Given the description of an element on the screen output the (x, y) to click on. 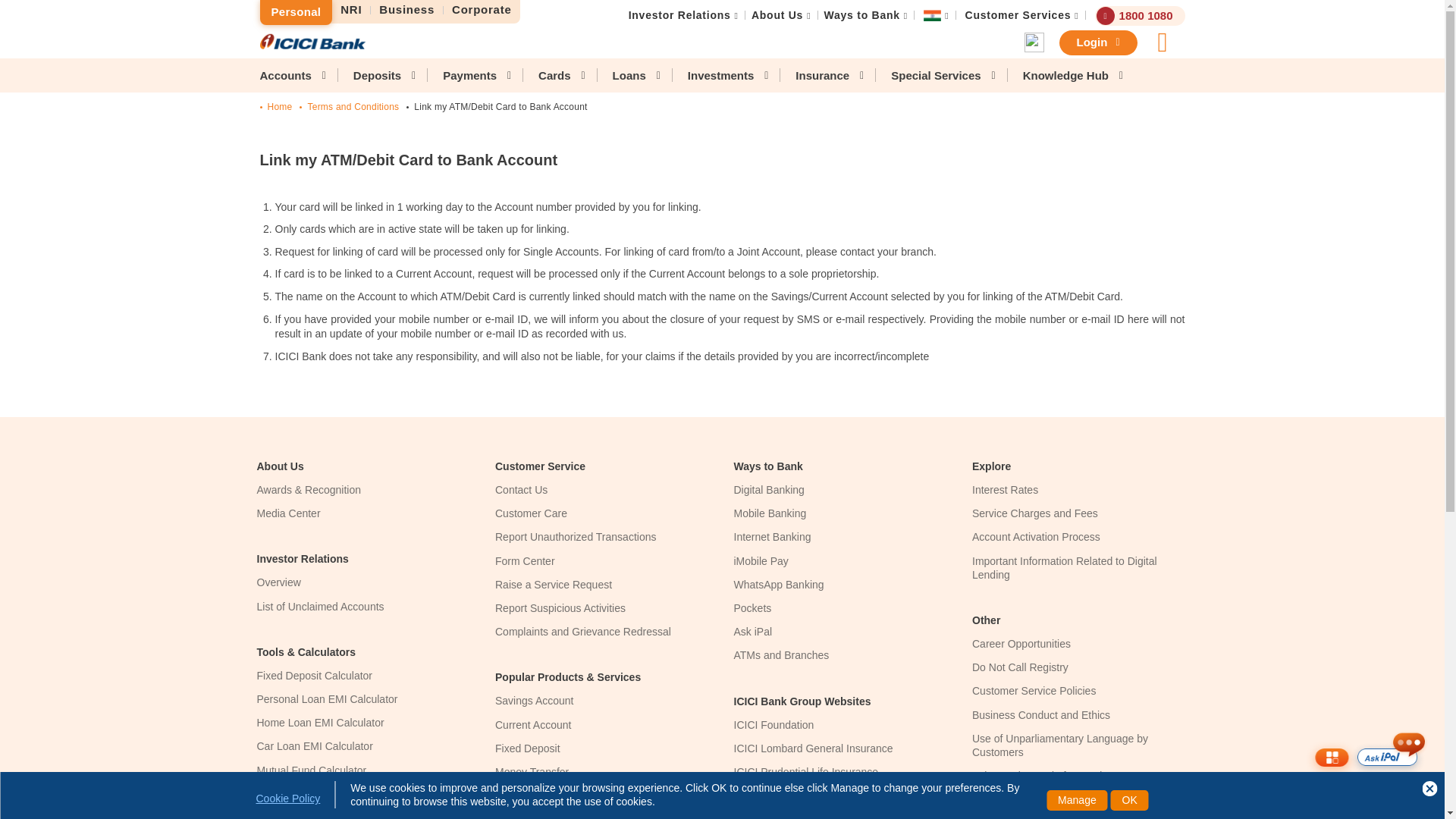
Media Center (288, 512)
Customer Services (1018, 15)
Ways to Bank (861, 15)
Personal (295, 12)
Business (407, 9)
NRI (351, 9)
Investor Relations (679, 15)
About Us (777, 15)
Corporate (481, 9)
